Given the description of an element on the screen output the (x, y) to click on. 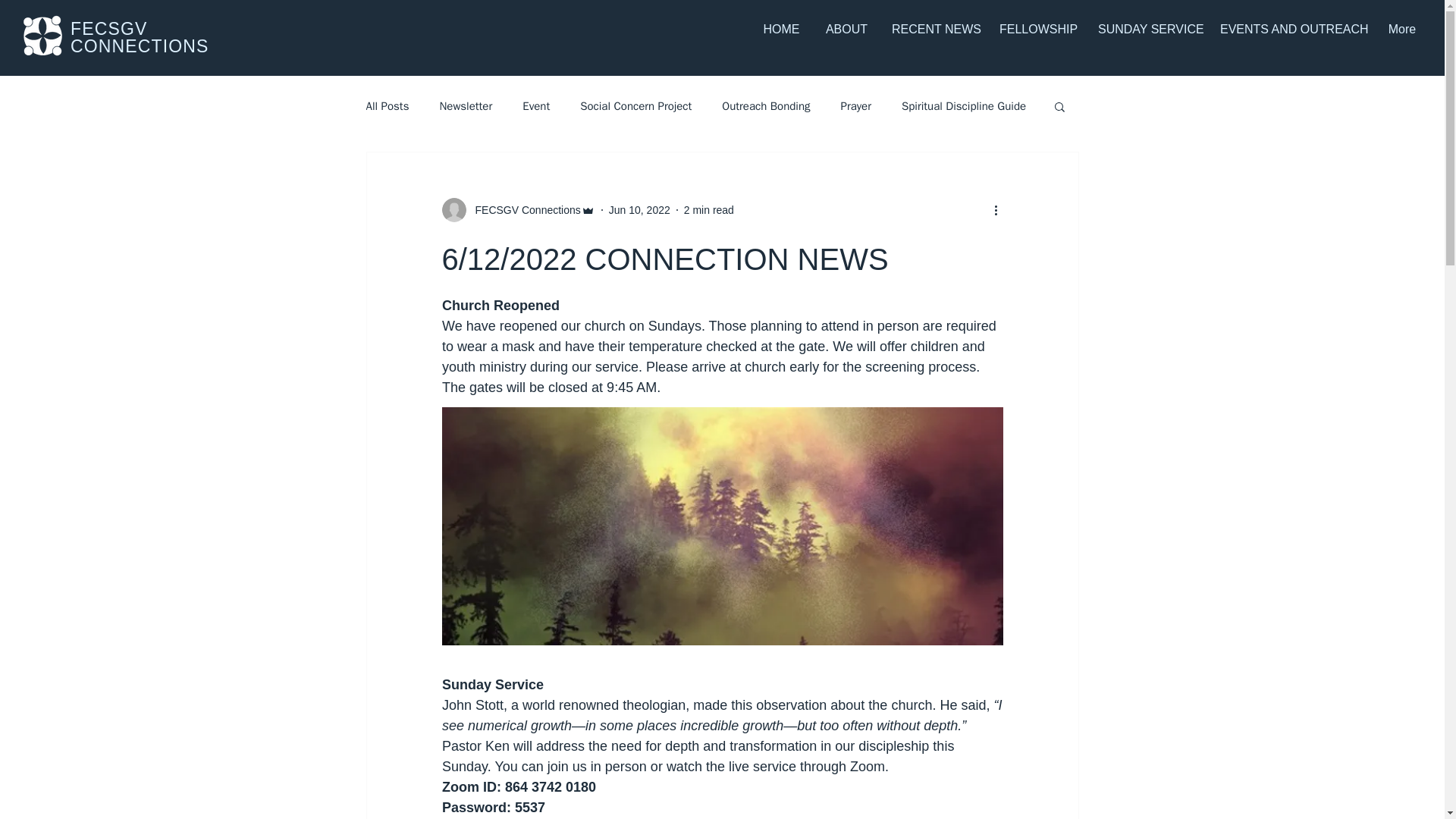
2 min read (708, 209)
FELLOWSHIP (1037, 29)
CONNECTIONS (139, 46)
RECENT NEWS (934, 29)
Outreach Bonding (765, 105)
FECSGV Connections (522, 209)
Event (536, 105)
FECSGV Connections (517, 209)
Prayer (855, 105)
All Posts (387, 105)
